Given the description of an element on the screen output the (x, y) to click on. 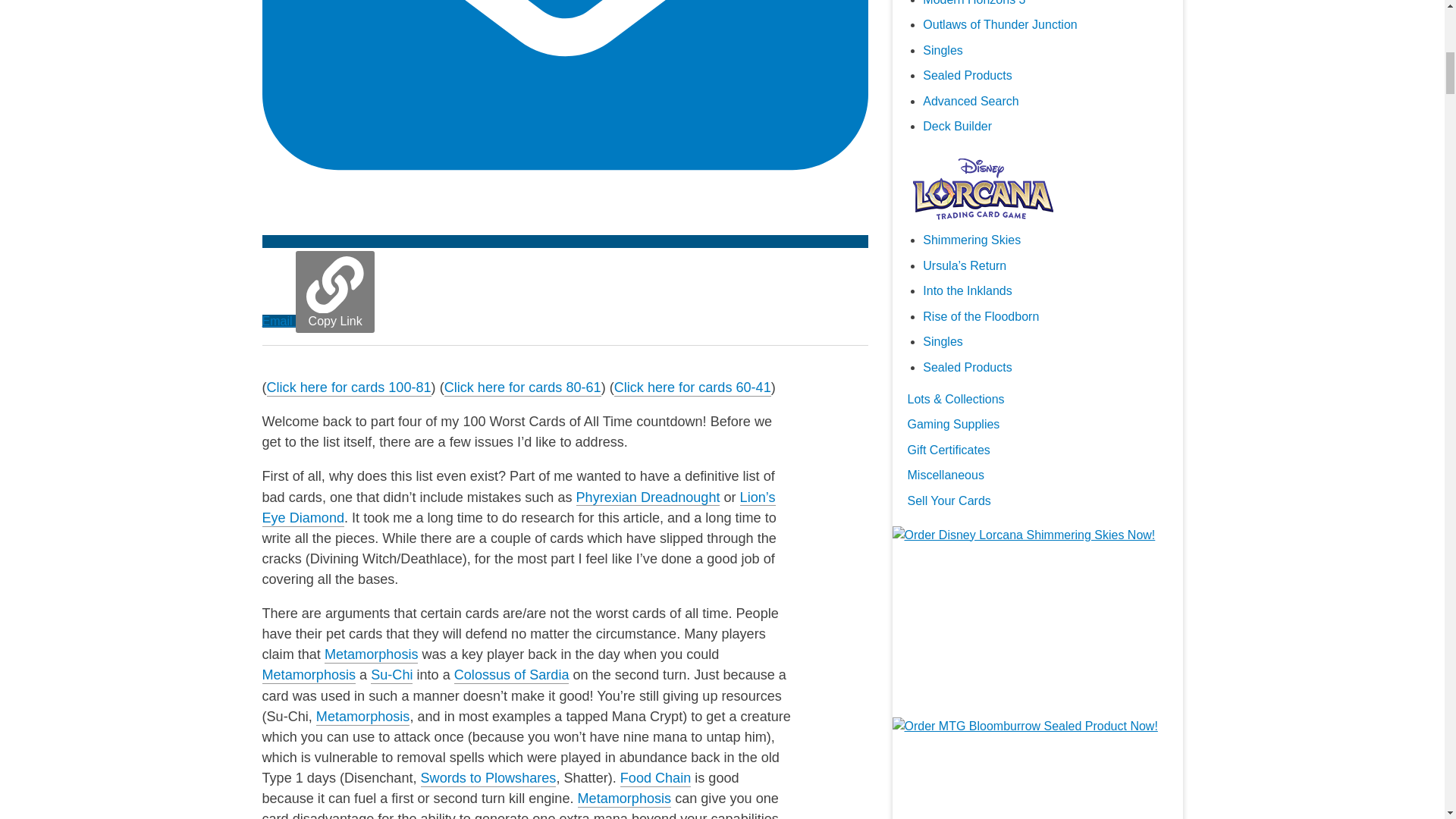
Food Chain (655, 778)
Click here for cards 100-81 (348, 388)
Su-Chi (391, 675)
Email (564, 281)
Metamorphosis (371, 655)
Colossus of Sardia (511, 675)
Metamorphosis (624, 799)
Swords to Plowshares (488, 778)
Click here for cards 80-61 (522, 388)
Metamorphosis (309, 675)
